Given the description of an element on the screen output the (x, y) to click on. 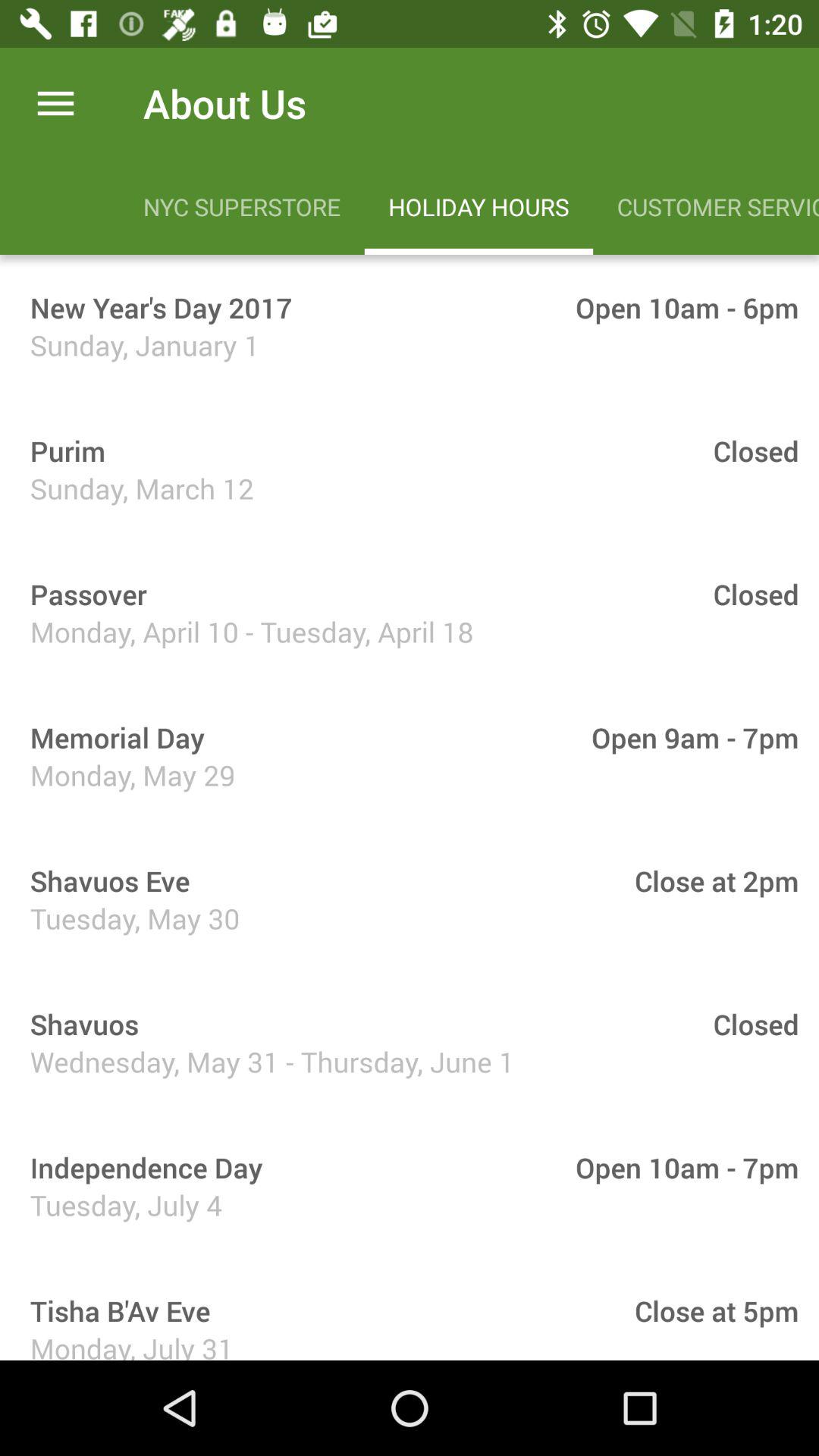
press the item above monday april 10 icon (82, 594)
